Given the description of an element on the screen output the (x, y) to click on. 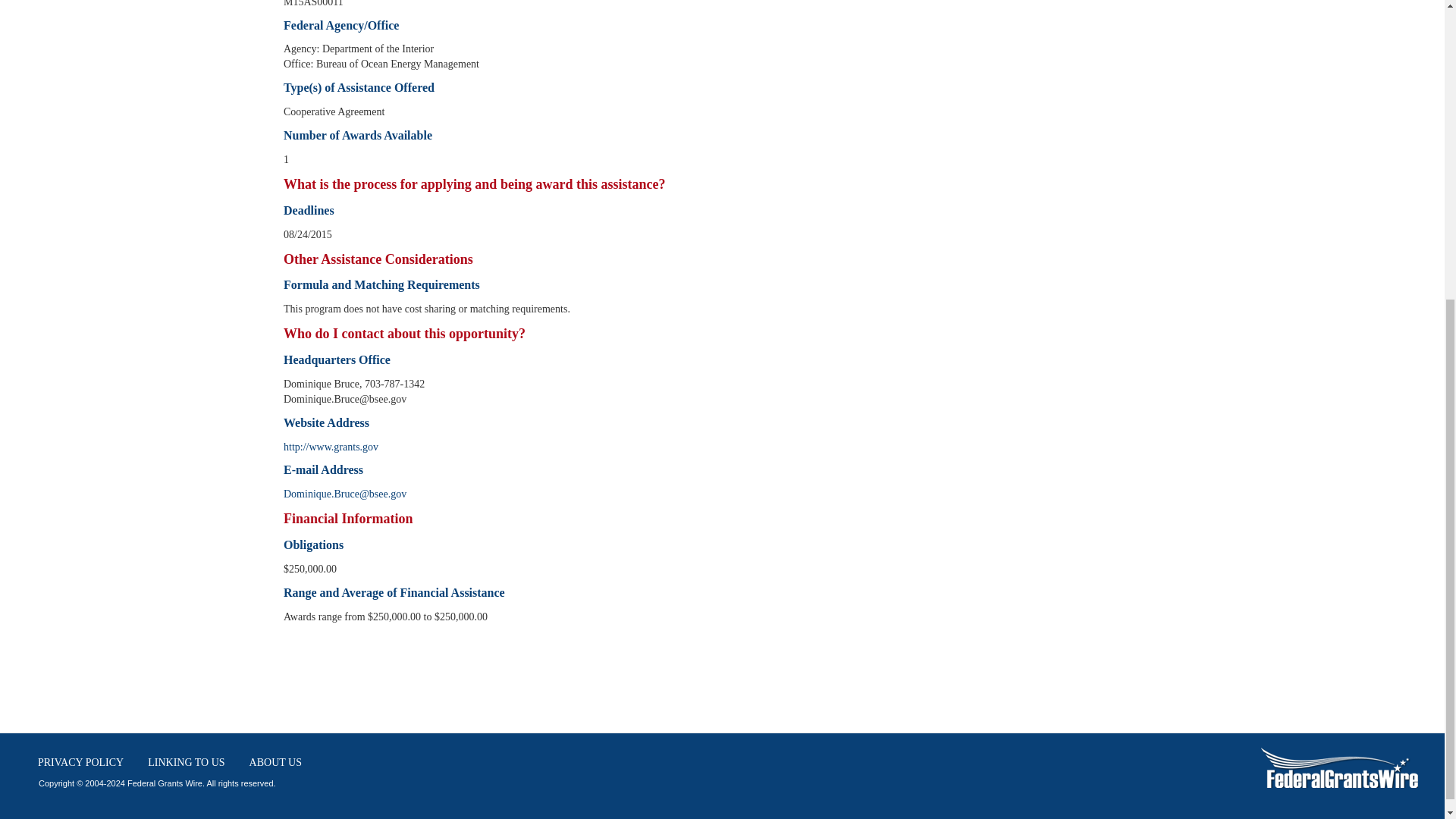
PRIVACY POLICY (80, 762)
ABOUT US (275, 762)
LINKING TO US (185, 762)
